Given the description of an element on the screen output the (x, y) to click on. 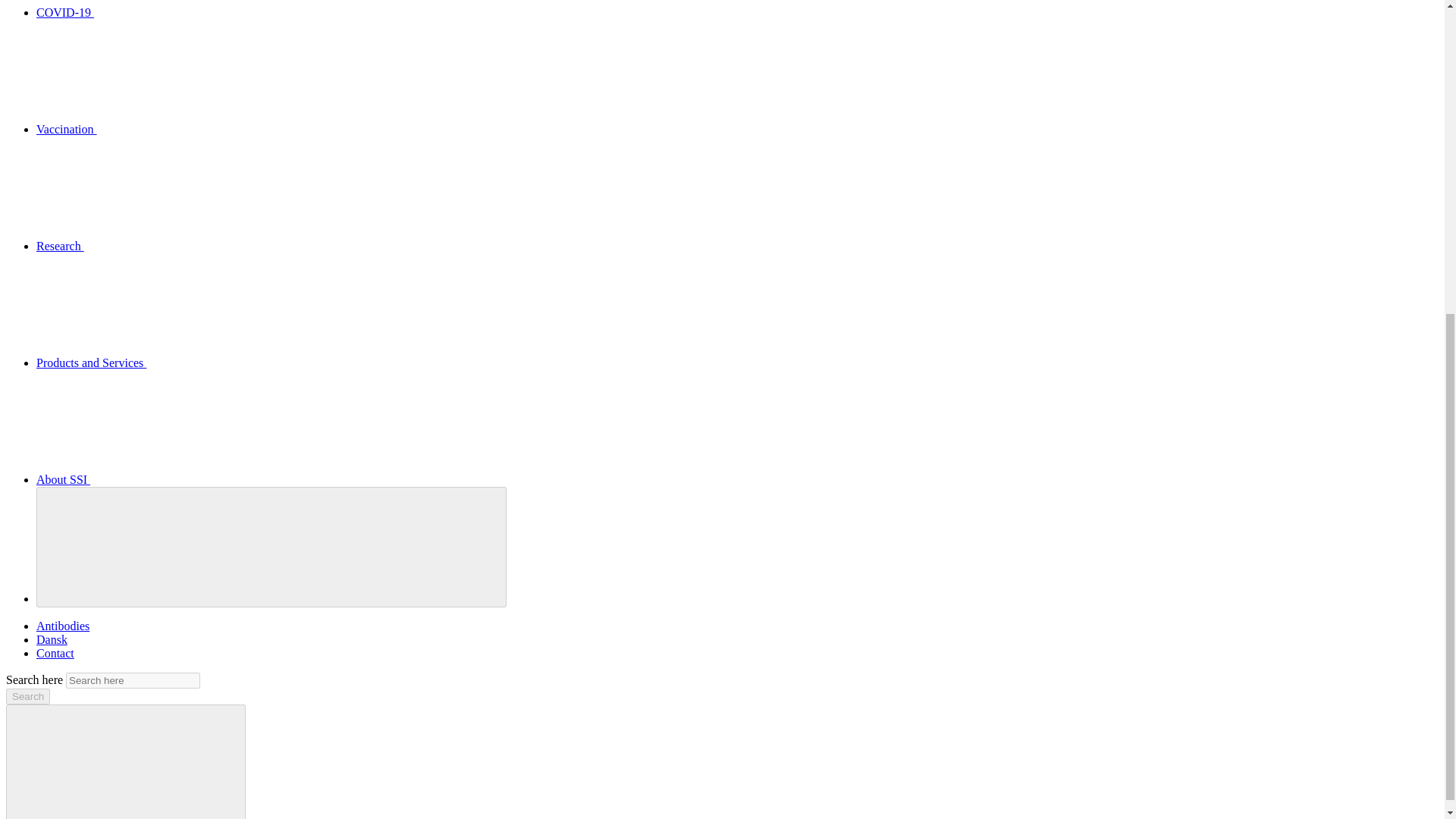
Dansk (51, 639)
Products and Services (205, 362)
Vaccination (180, 128)
About SSI (176, 479)
Research (173, 245)
Antibodies (62, 625)
Contact (55, 653)
Search (27, 696)
COVID-19 (178, 11)
